Given the description of an element on the screen output the (x, y) to click on. 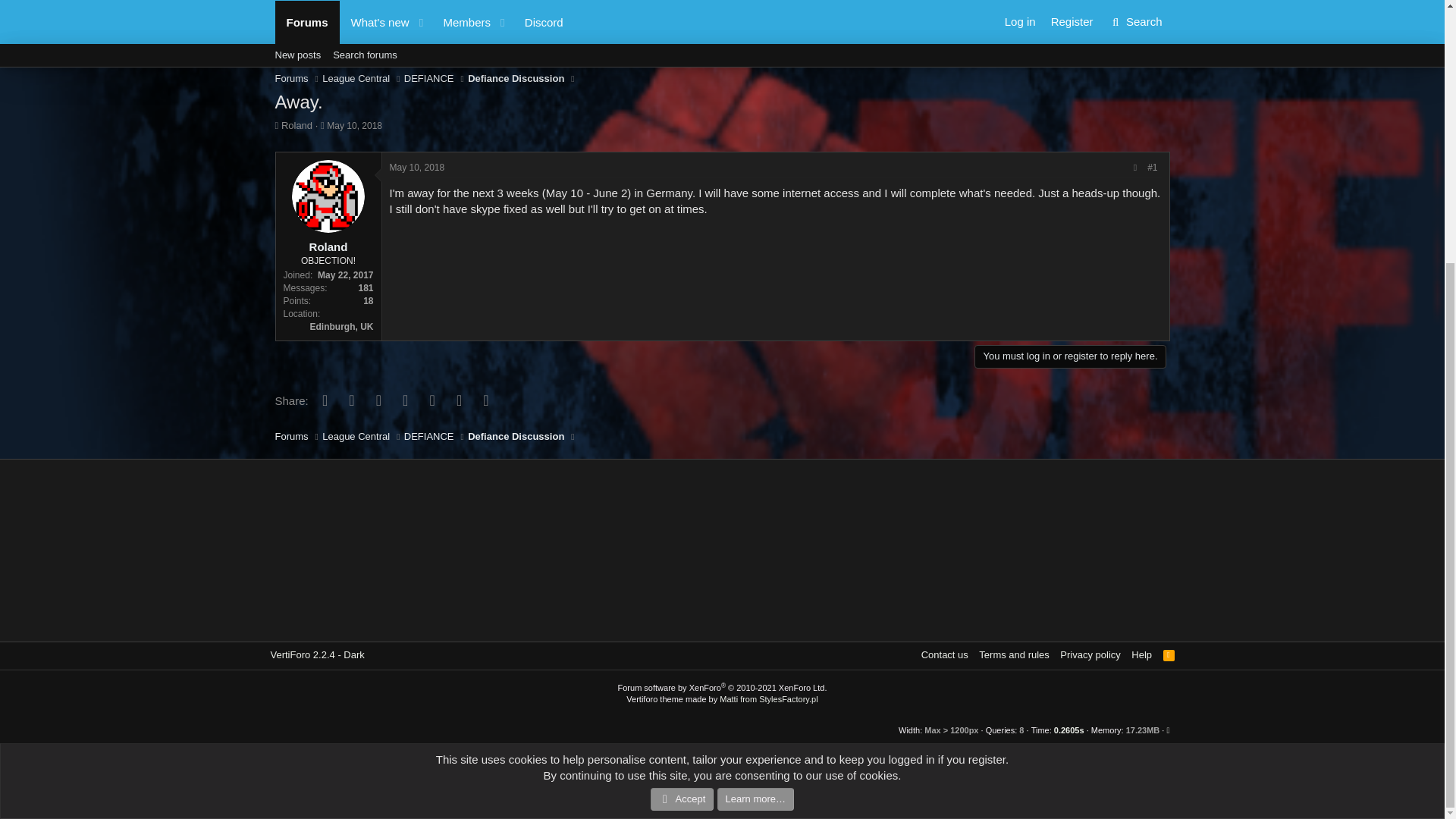
DEFIANCE (429, 78)
Defiance Discussion (515, 78)
League Central (355, 78)
Roland (297, 125)
May 10, 2018 at 2:26 PM (353, 125)
Roland (327, 246)
May 10, 2018 at 2:26 PM (417, 167)
Register (745, 24)
May 10, 2018 (353, 125)
Log in (694, 24)
Forums (291, 78)
Responsive width (939, 729)
RSS (1168, 654)
